Given the description of an element on the screen output the (x, y) to click on. 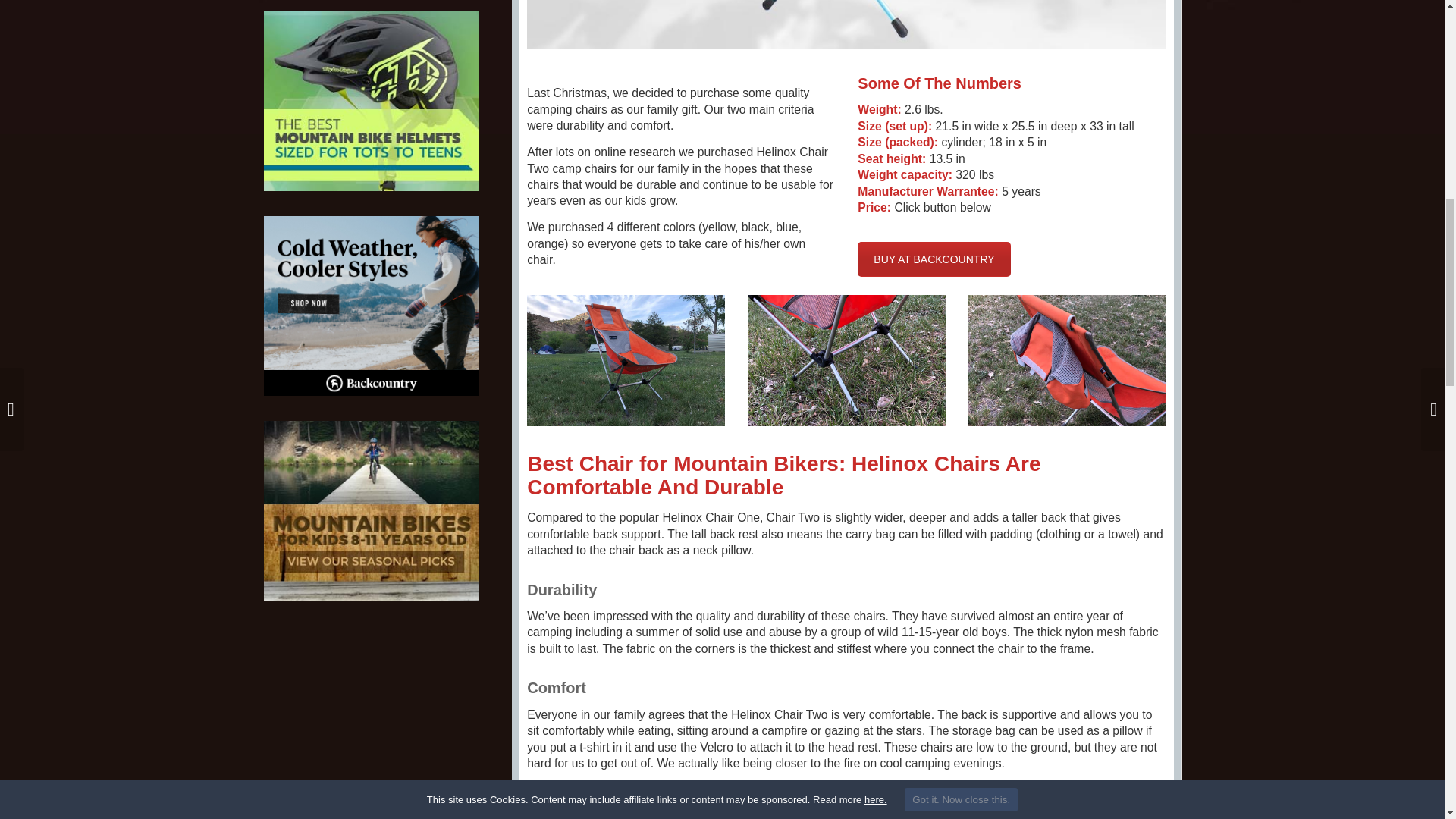
Helinox Chair Two review - set up (626, 359)
Detail of Helinox camping chair (846, 359)
Storage bag attached to back of Helinox camping chair (1067, 359)
Lake day with the Helinox Two camping chairs (1011, 808)
The Helinox Chair Two camping chairs are comfortable (680, 808)
Best Chair for mountain bikers: Helinox (846, 24)
